Given the description of an element on the screen output the (x, y) to click on. 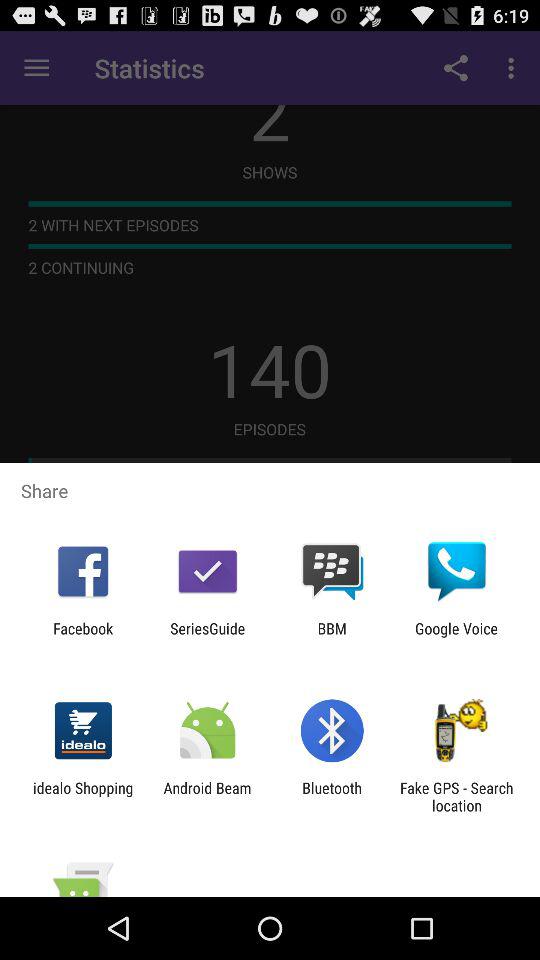
press app next to seriesguide icon (83, 637)
